Given the description of an element on the screen output the (x, y) to click on. 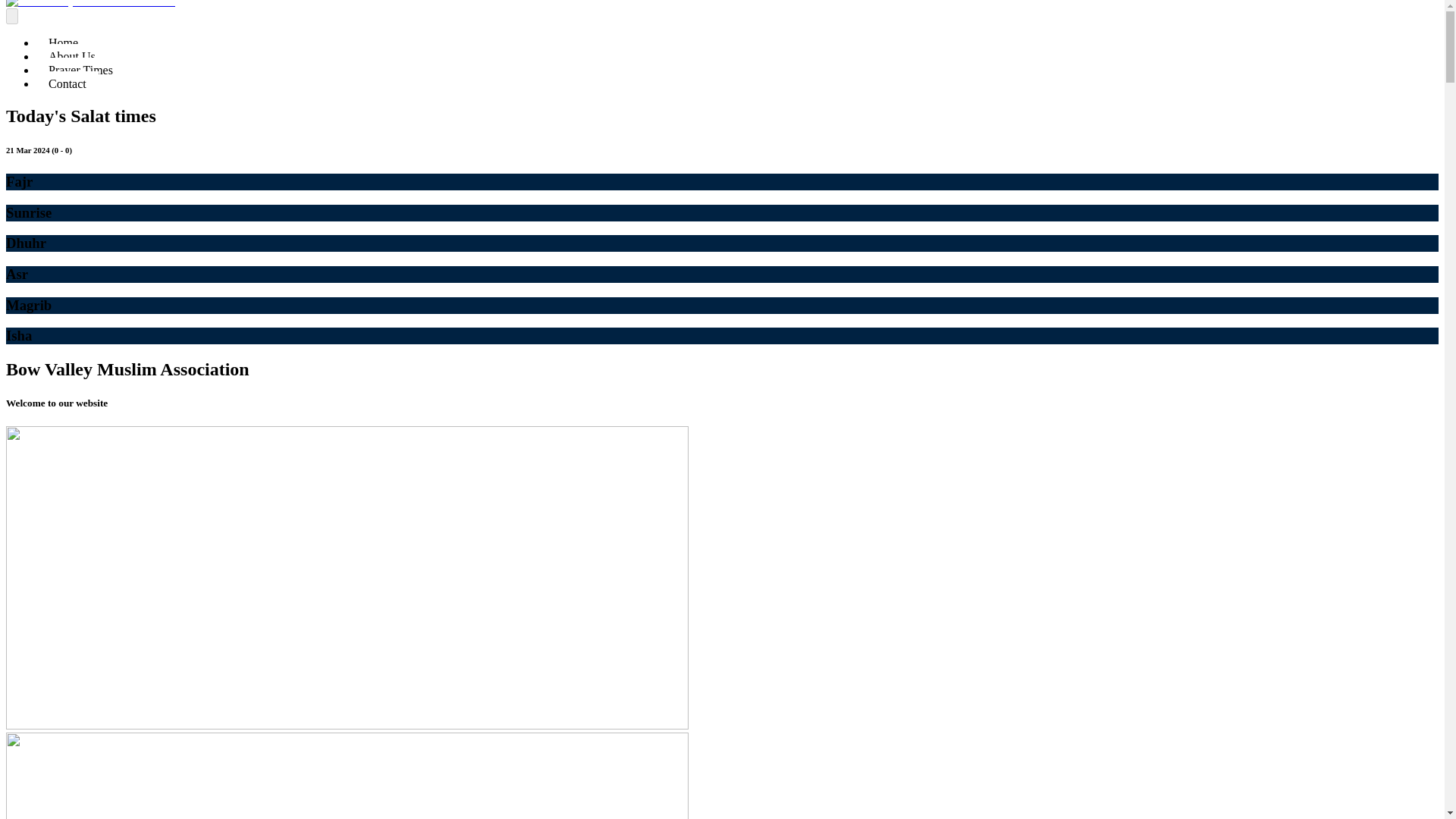
Contact (67, 83)
Prayer Times (80, 69)
About Us (71, 56)
Home (63, 42)
